Given the description of an element on the screen output the (x, y) to click on. 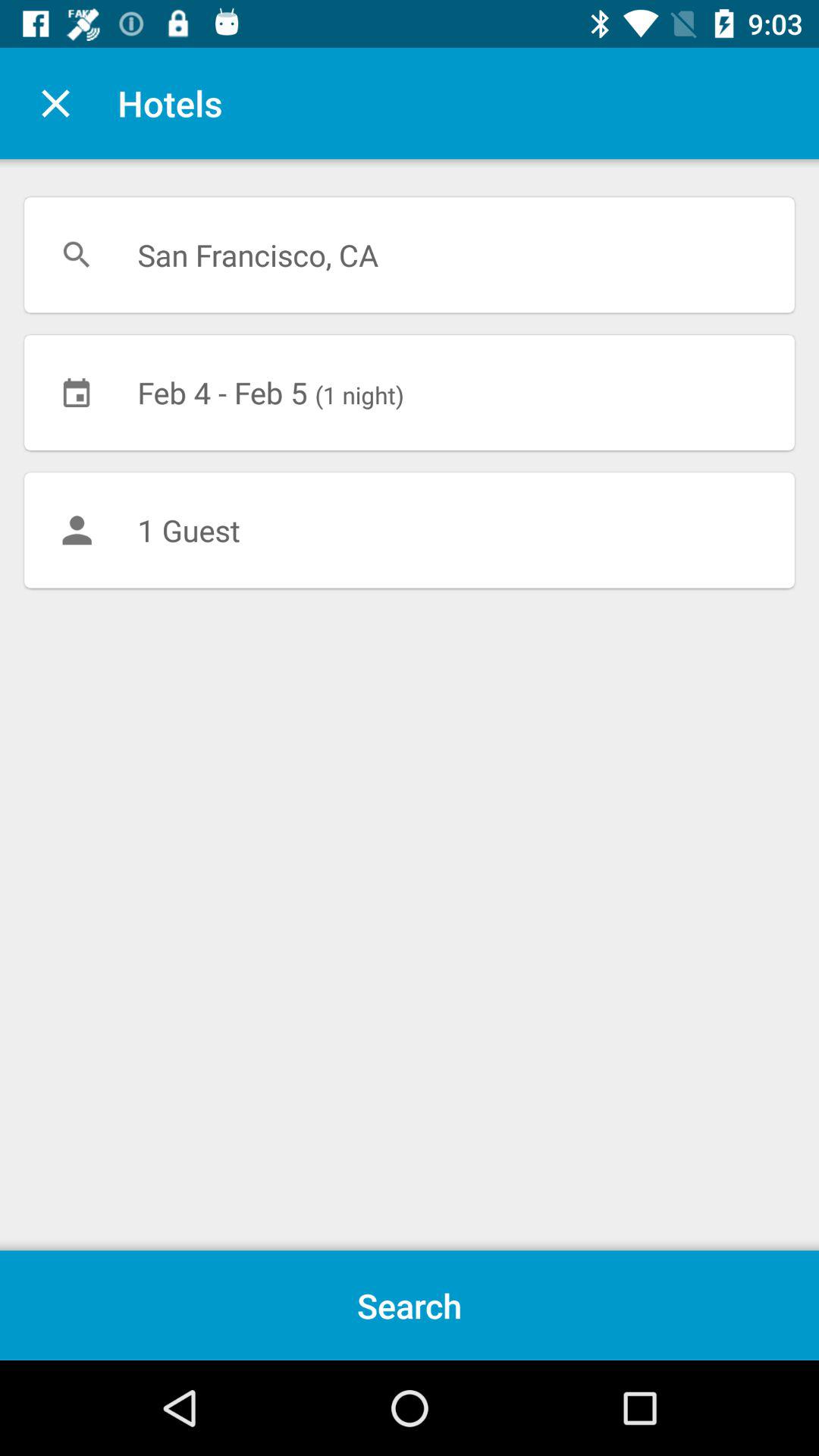
choose the item below the san francisco, ca (409, 392)
